Given the description of an element on the screen output the (x, y) to click on. 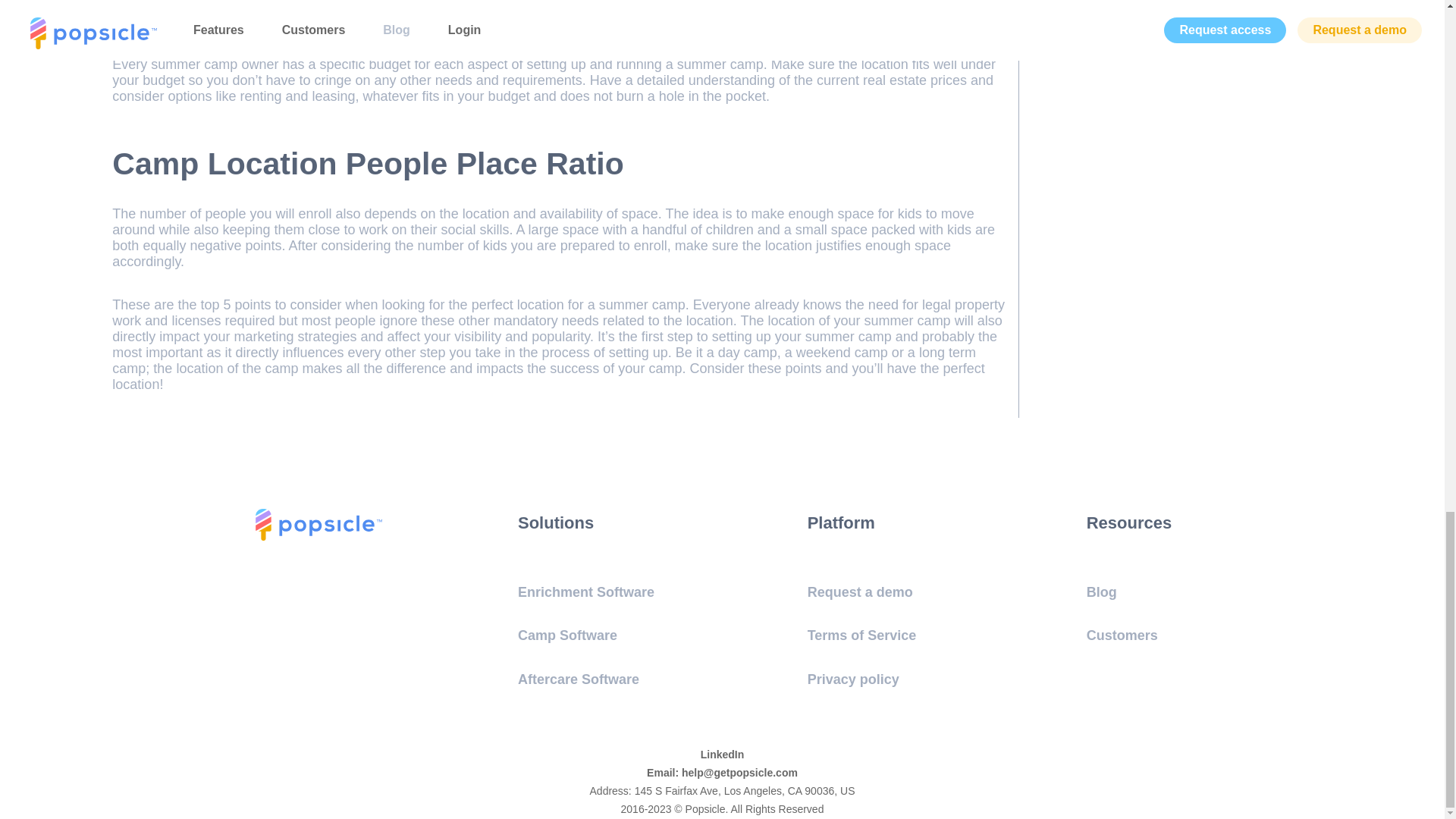
Click to read our trems (862, 635)
Customers (1121, 635)
How customers use Popsicle to succeed (1121, 635)
All you need to know about after school management (1101, 591)
Camp Software (567, 635)
Click to read our Privacy policy (853, 679)
Click to get more information about camp software (567, 635)
Popsicle (318, 535)
Blog (1101, 591)
